Given the description of an element on the screen output the (x, y) to click on. 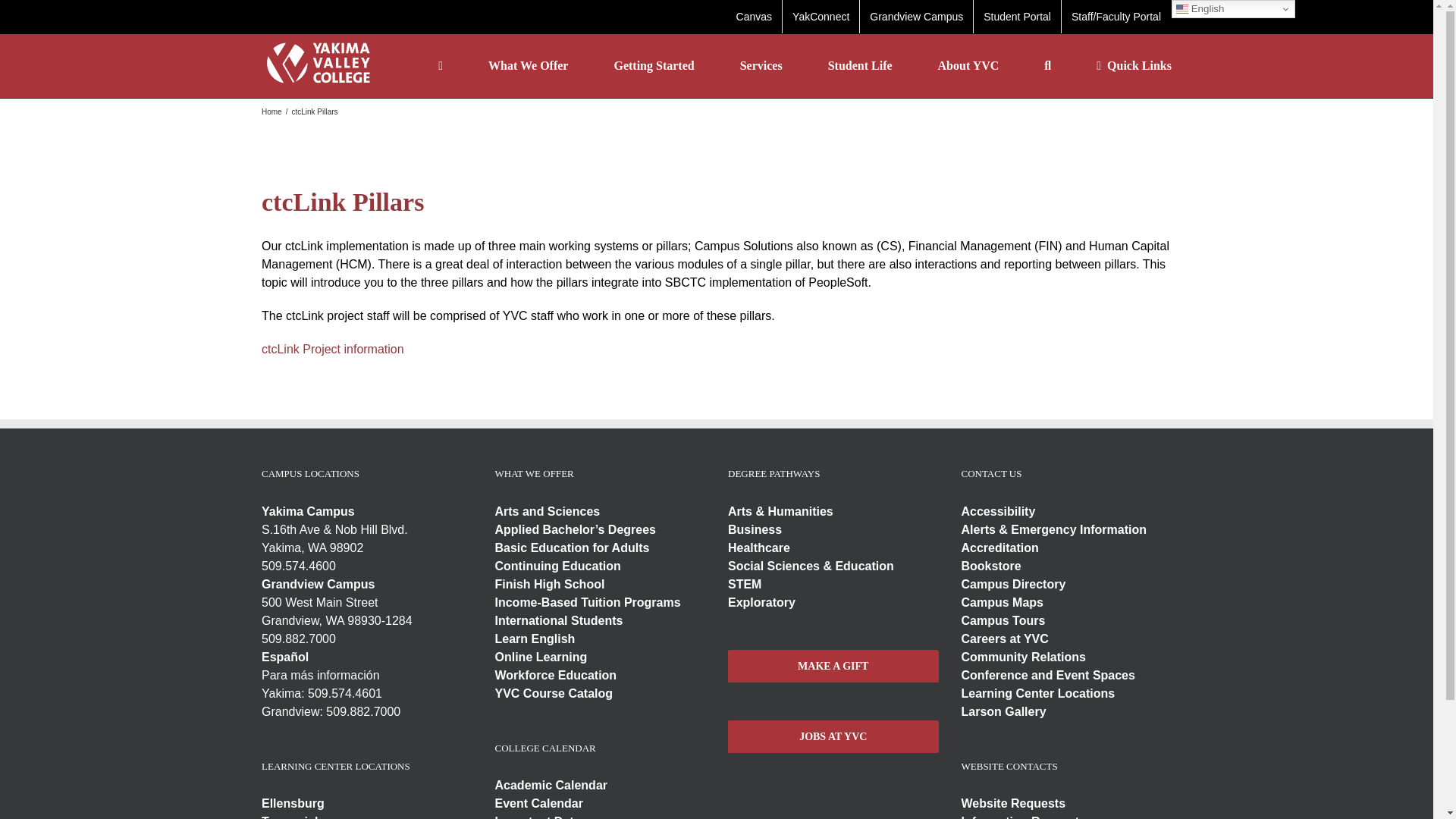
Student Portal (1017, 16)
Canvas (753, 16)
Grandview Campus (916, 16)
YakConnect (821, 16)
